Given the description of an element on the screen output the (x, y) to click on. 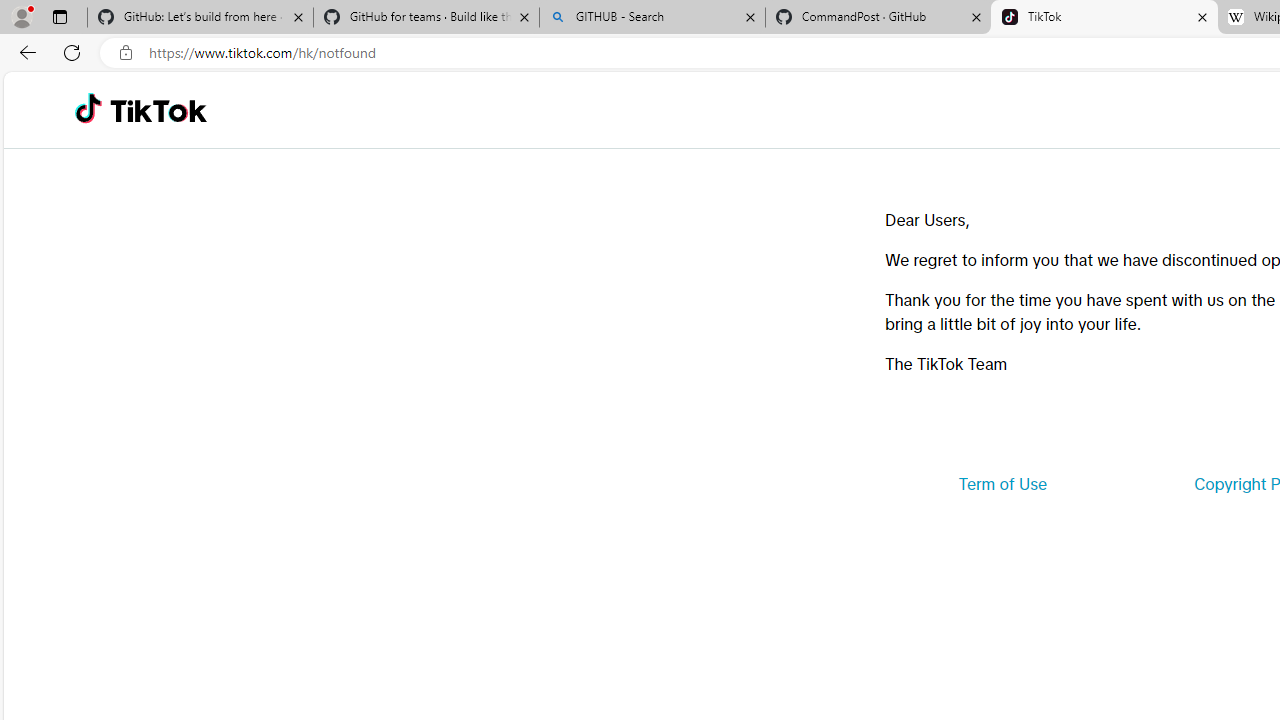
GITHUB - Search (652, 17)
Term of Use (1002, 484)
